Given the description of an element on the screen output the (x, y) to click on. 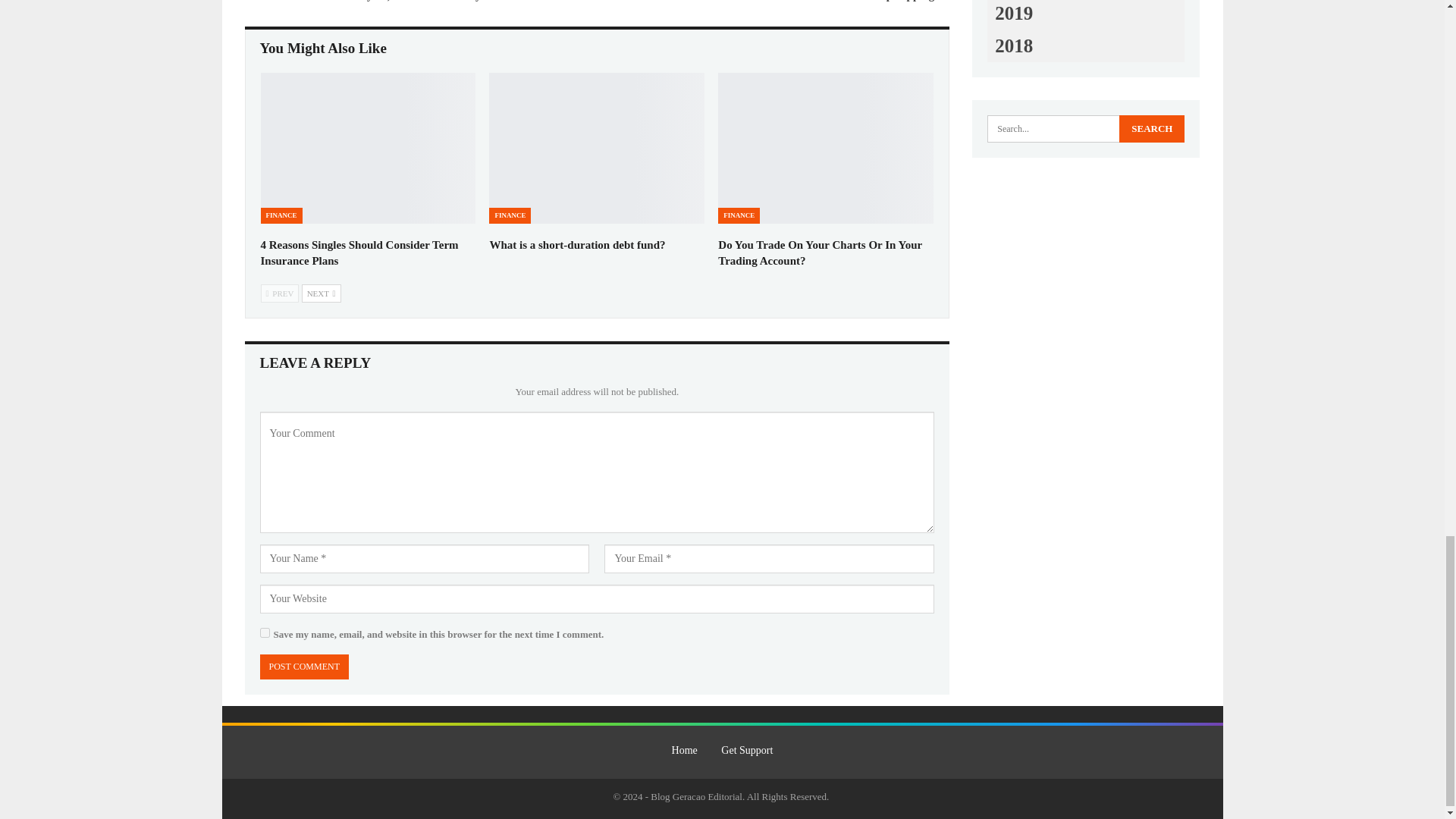
yes (264, 633)
Do You Trade On Your Charts Or In Your Trading Account? (819, 252)
You Might Also Like (322, 48)
FINANCE (281, 215)
Search (1152, 128)
4 Reasons Singles Should Consider Term Insurance Plans (359, 252)
Post Comment (303, 666)
What is a short-duration debt fund? (577, 244)
Previous (279, 293)
FINANCE (738, 215)
Do You Trade On Your Charts Or In Your Trading Account? (819, 252)
Do You Trade On Your Charts Or In Your Trading Account? (825, 147)
FINANCE (510, 215)
